Given the description of an element on the screen output the (x, y) to click on. 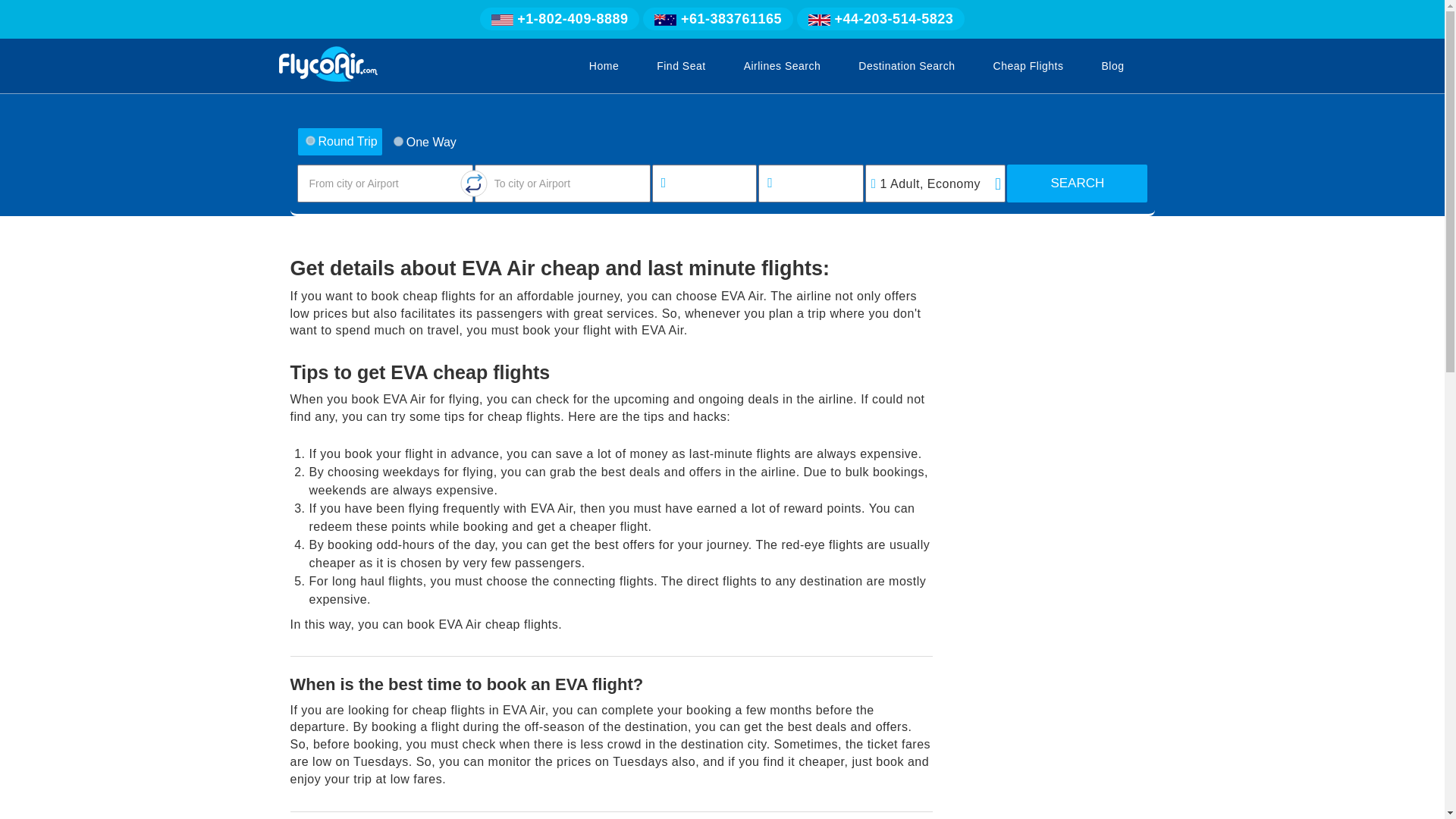
SEARCH (1077, 183)
Find Seat (681, 65)
Cheap Flights (1028, 65)
Blog (1112, 65)
Destination Search (906, 65)
0 (309, 140)
Home (603, 65)
1 (398, 141)
Airlines Search (782, 65)
